Given the description of an element on the screen output the (x, y) to click on. 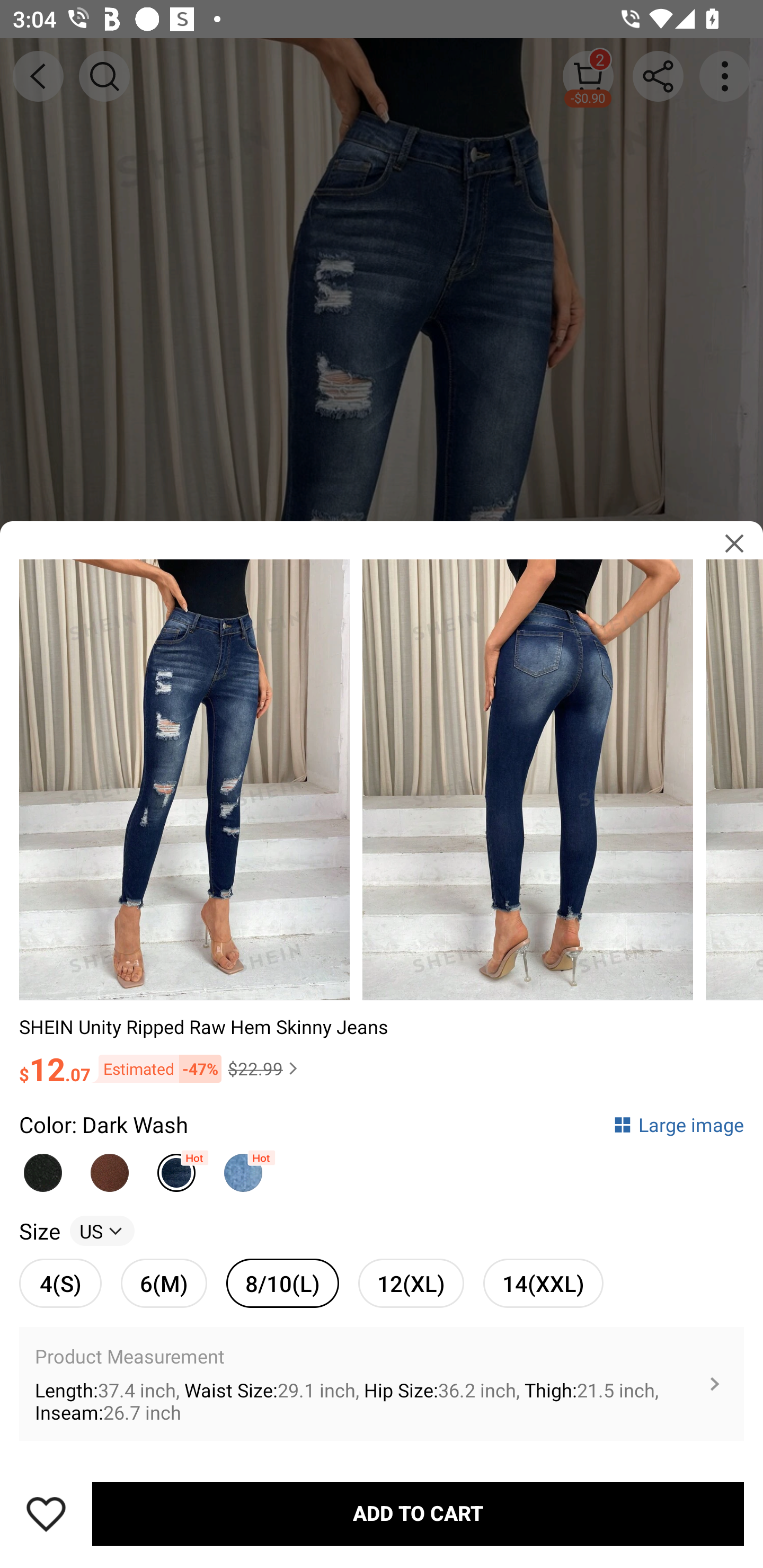
Estimated -47% (155, 1069)
$22.99 (265, 1068)
Color: Dark Wash (103, 1123)
Large image (677, 1123)
Black (42, 1167)
Coffee Brown (109, 1167)
Dark Wash (176, 1167)
Light Wash (242, 1167)
Size (39, 1230)
US (102, 1230)
4(S) 4(S)unselected option (60, 1283)
6(M) 6(M)unselected option (163, 1283)
8/10(L) 8/10(L)selected option (282, 1283)
12(XL) 12(XL)unselected option (410, 1283)
14(XXL) 14(XXL)unselected option (542, 1283)
ADD TO CART (417, 1513)
Save (46, 1513)
